Given the description of an element on the screen output the (x, y) to click on. 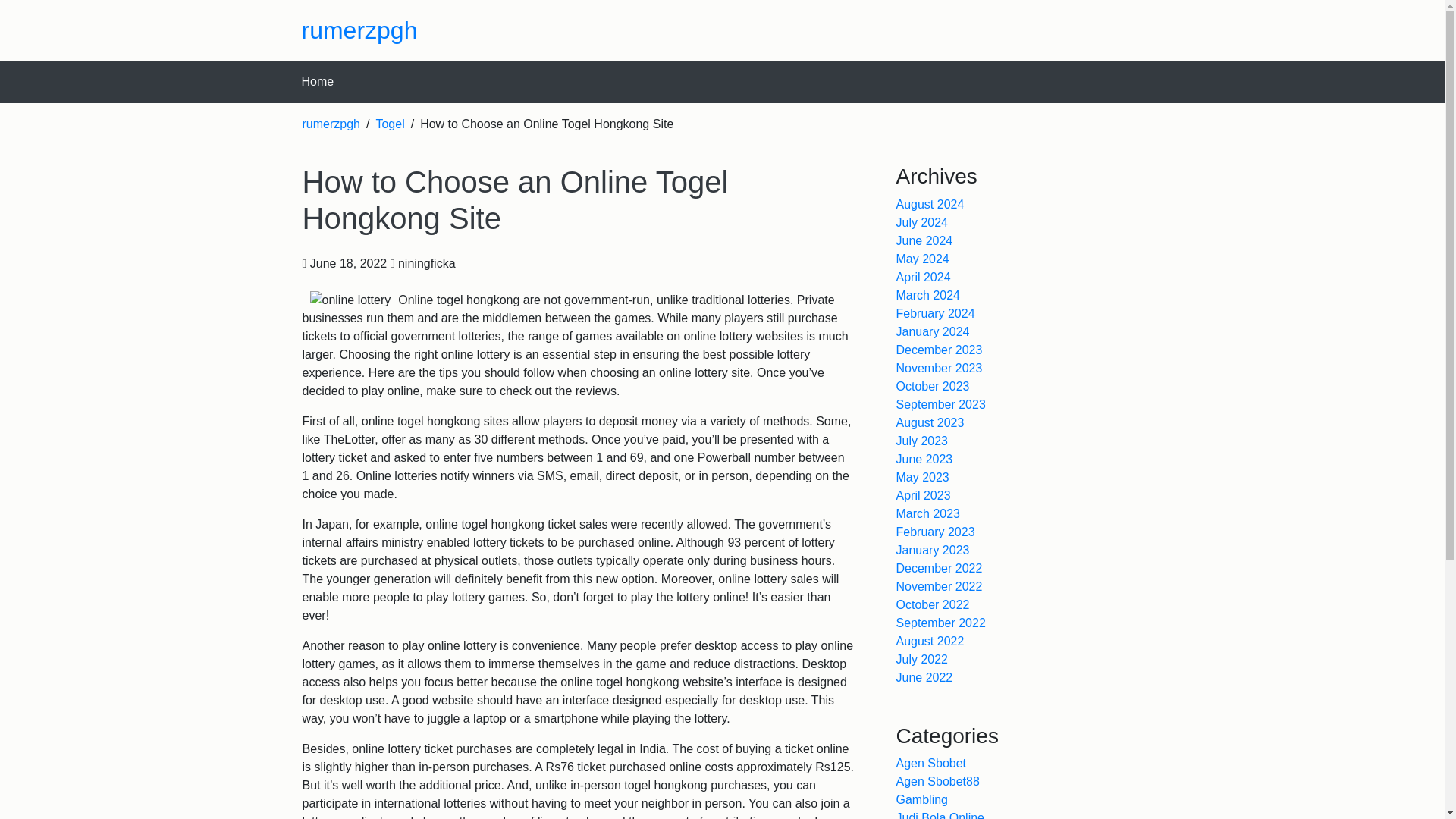
September 2022 (940, 622)
September 2023 (940, 404)
rumerzpgh (359, 30)
July 2024 (922, 222)
July 2023 (922, 440)
May 2023 (922, 477)
January 2023 (932, 549)
June 2024 (924, 240)
January 2024 (932, 331)
October 2023 (932, 386)
